Given the description of an element on the screen output the (x, y) to click on. 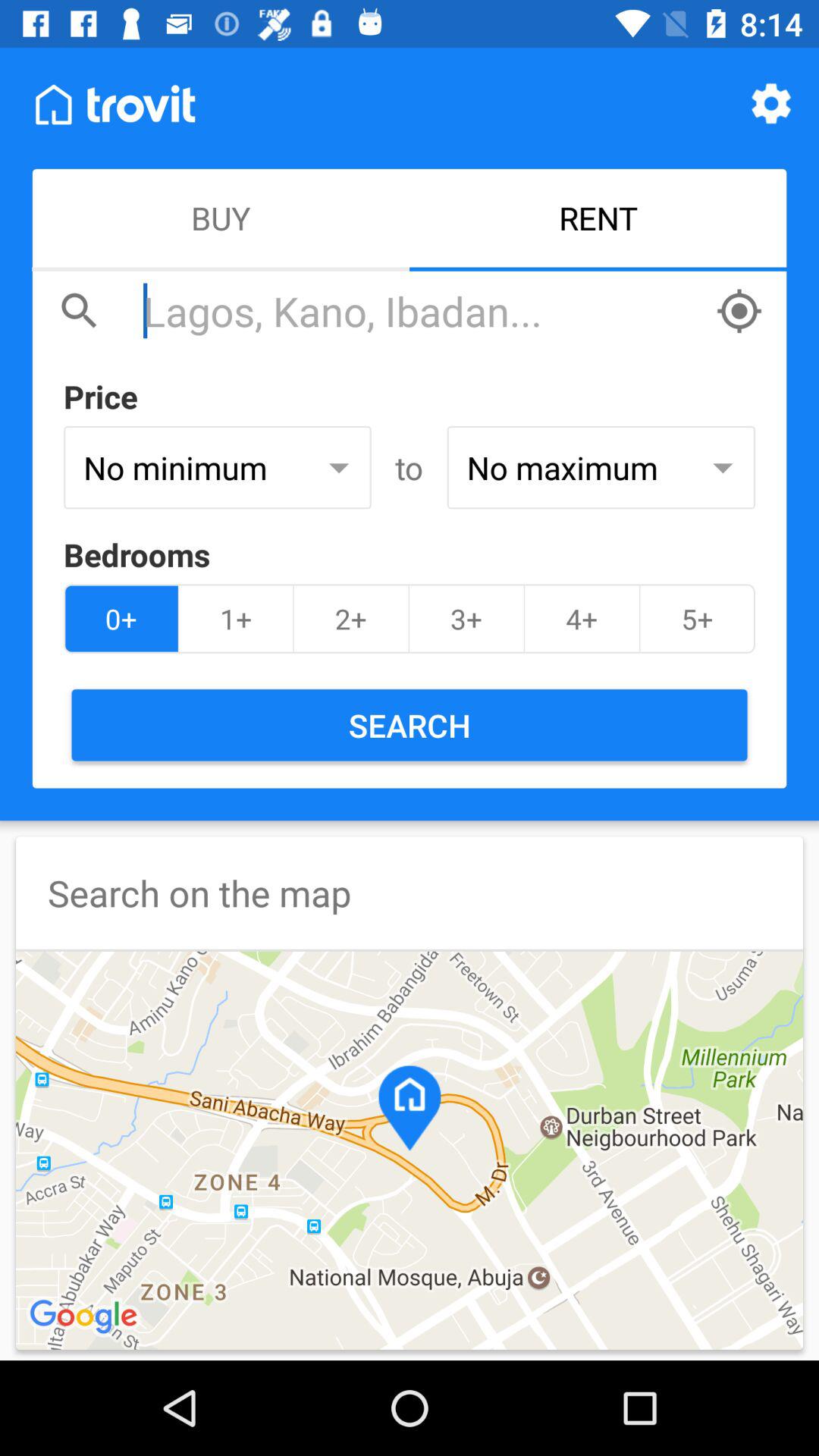
have the app autofill your current location (739, 310)
